Given the description of an element on the screen output the (x, y) to click on. 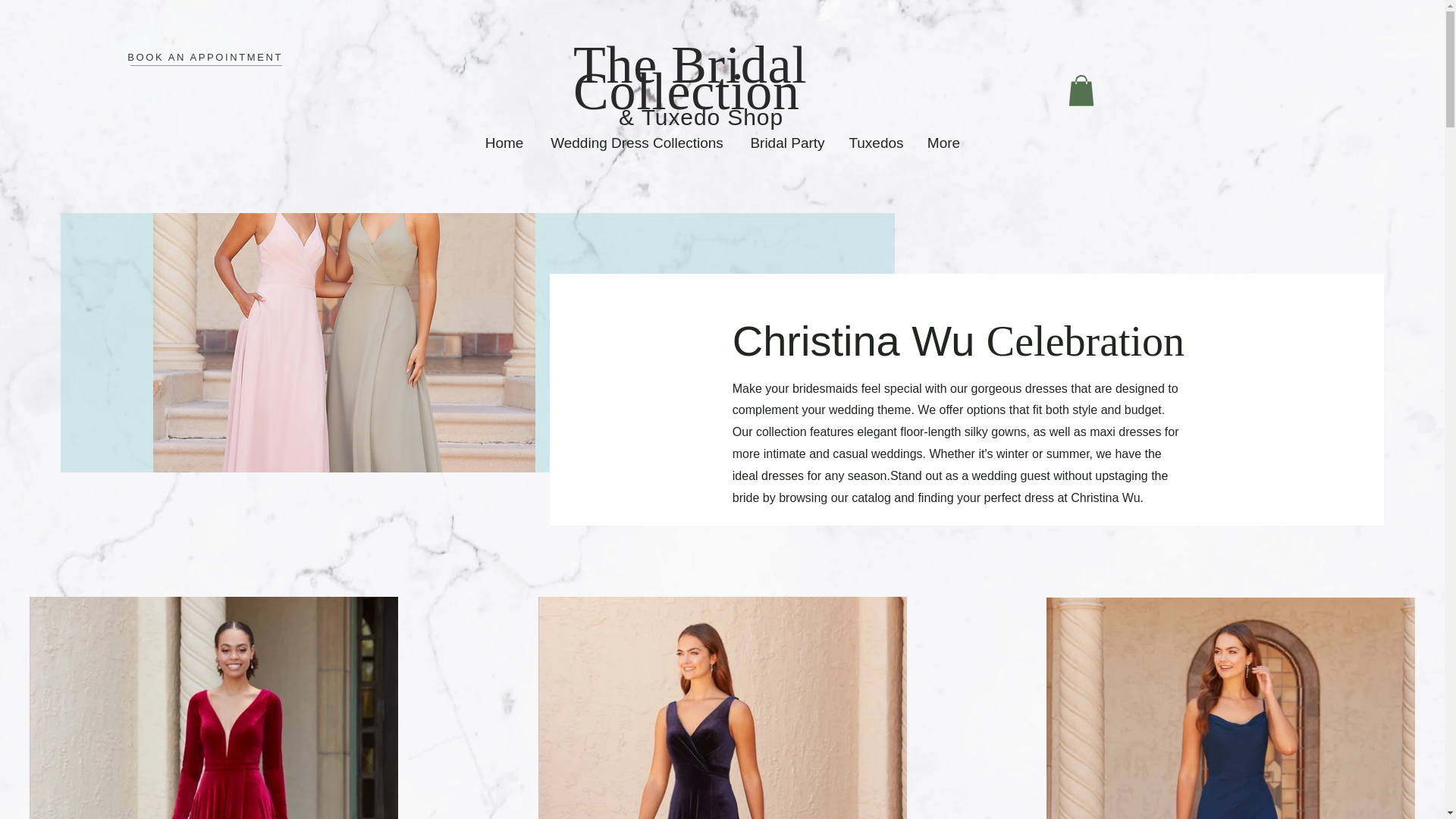
CW Love.jpg (343, 342)
Tuxedos (876, 143)
Home (504, 143)
BOOK AN APPOINTMENT (205, 57)
